Given the description of an element on the screen output the (x, y) to click on. 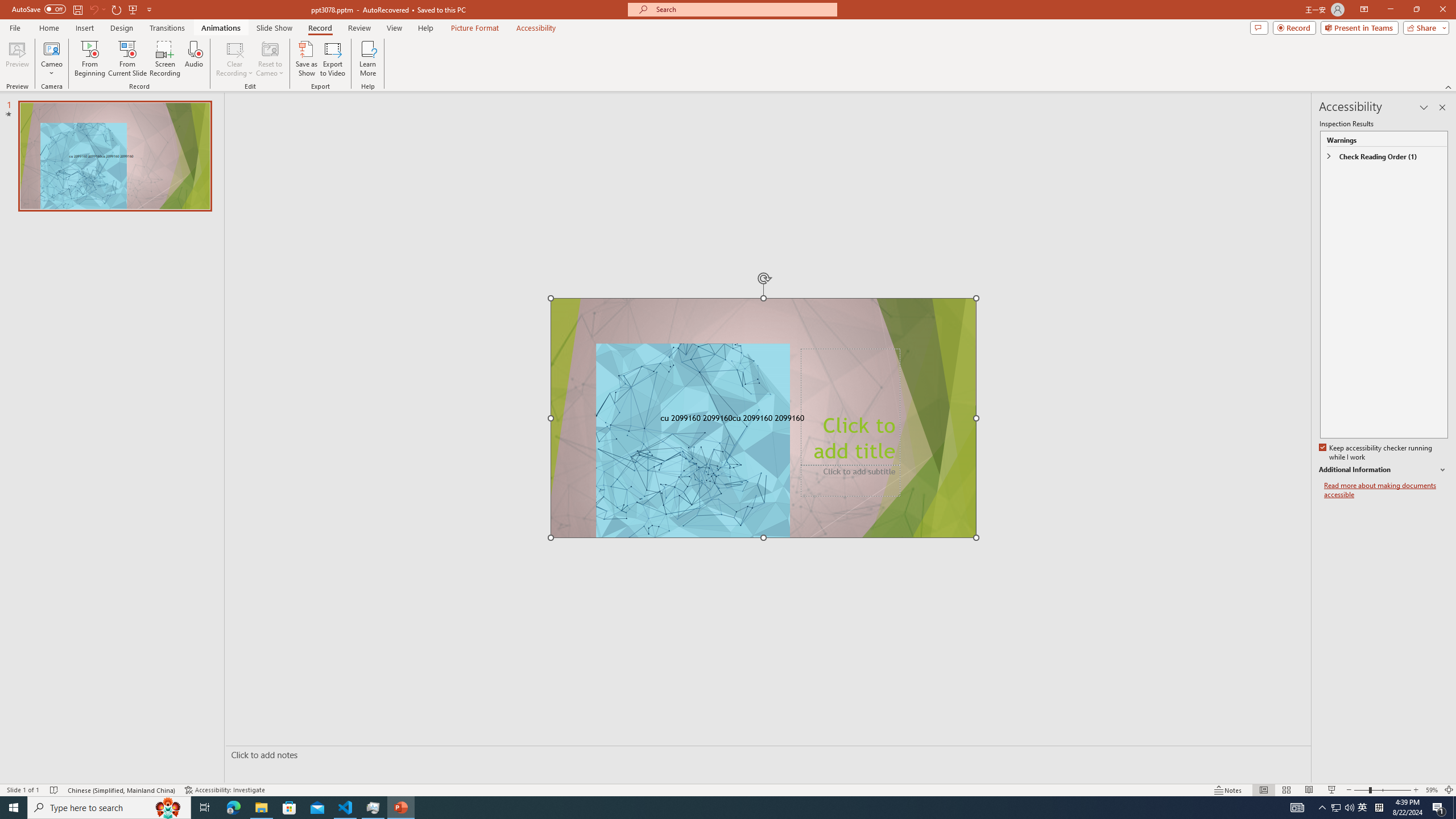
Zoom 59% (1431, 790)
